Given the description of an element on the screen output the (x, y) to click on. 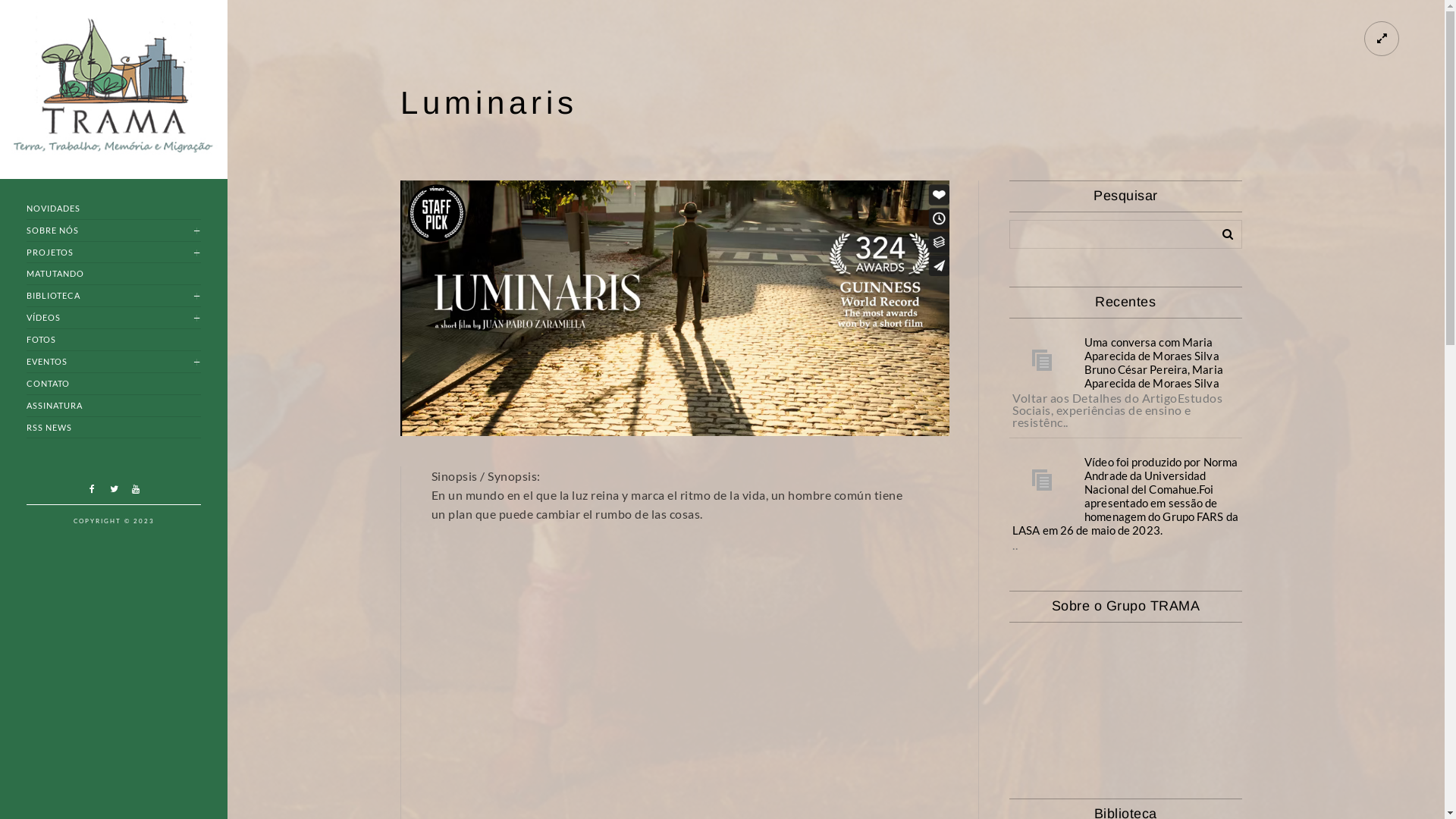
BIBLIOTECA Element type: text (113, 296)
PROJETOS Element type: text (113, 252)
CONTATO Element type: text (113, 384)
Youtube Element type: hover (135, 488)
Facebook Element type: hover (91, 488)
EVENTOS Element type: text (113, 362)
RSS NEWS Element type: text (113, 428)
Twitter Element type: hover (113, 488)
ASSINATURA Element type: text (113, 406)
Search Element type: hover (1222, 230)
NOVIDADES Element type: text (113, 208)
MATUTANDO Element type: text (113, 274)
FOTOS Element type: text (113, 340)
